Given the description of an element on the screen output the (x, y) to click on. 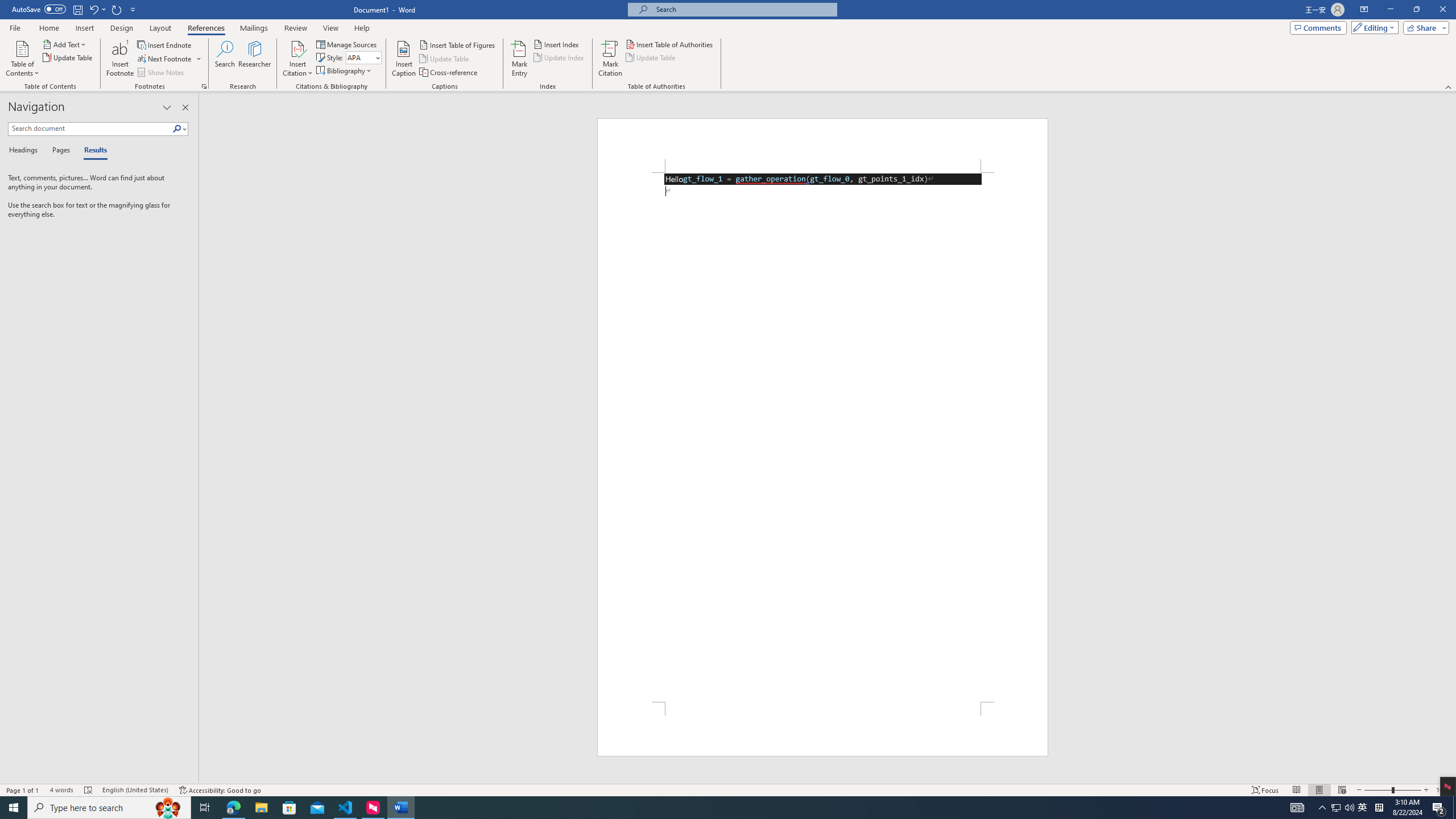
References (205, 28)
Insert Citation (297, 58)
Mailings (253, 28)
Save (77, 9)
File Tab (15, 27)
Zoom (1392, 790)
Zoom In (1426, 790)
Class: NetUIScrollBar (1450, 437)
Add Text (65, 44)
Read Mode (1296, 790)
Class: MsoCommandBar (728, 789)
Table of Contents (22, 58)
Ribbon Display Options (1364, 9)
